Given the description of an element on the screen output the (x, y) to click on. 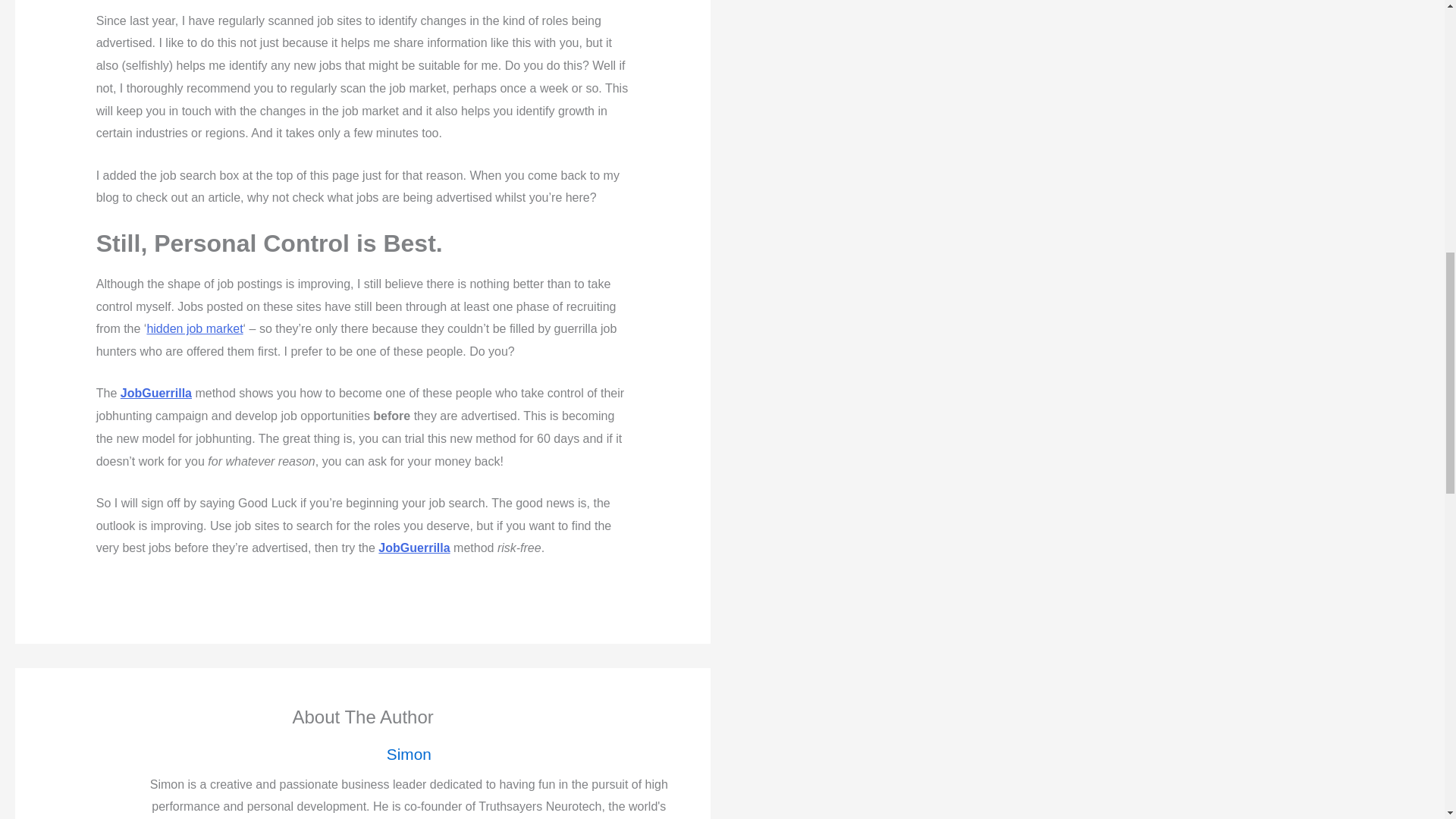
JobGuerrilla - You CAN Begin Working in Your Dream Job! (413, 547)
hidden job market (195, 328)
Simon (408, 753)
How To Search the Invisible Job Market (195, 328)
JobGuerrilla (156, 392)
JobGuerrilla - You CAN Begin Working in Your Dream Job! (156, 392)
JobGuerrilla (413, 547)
